Given the description of an element on the screen output the (x, y) to click on. 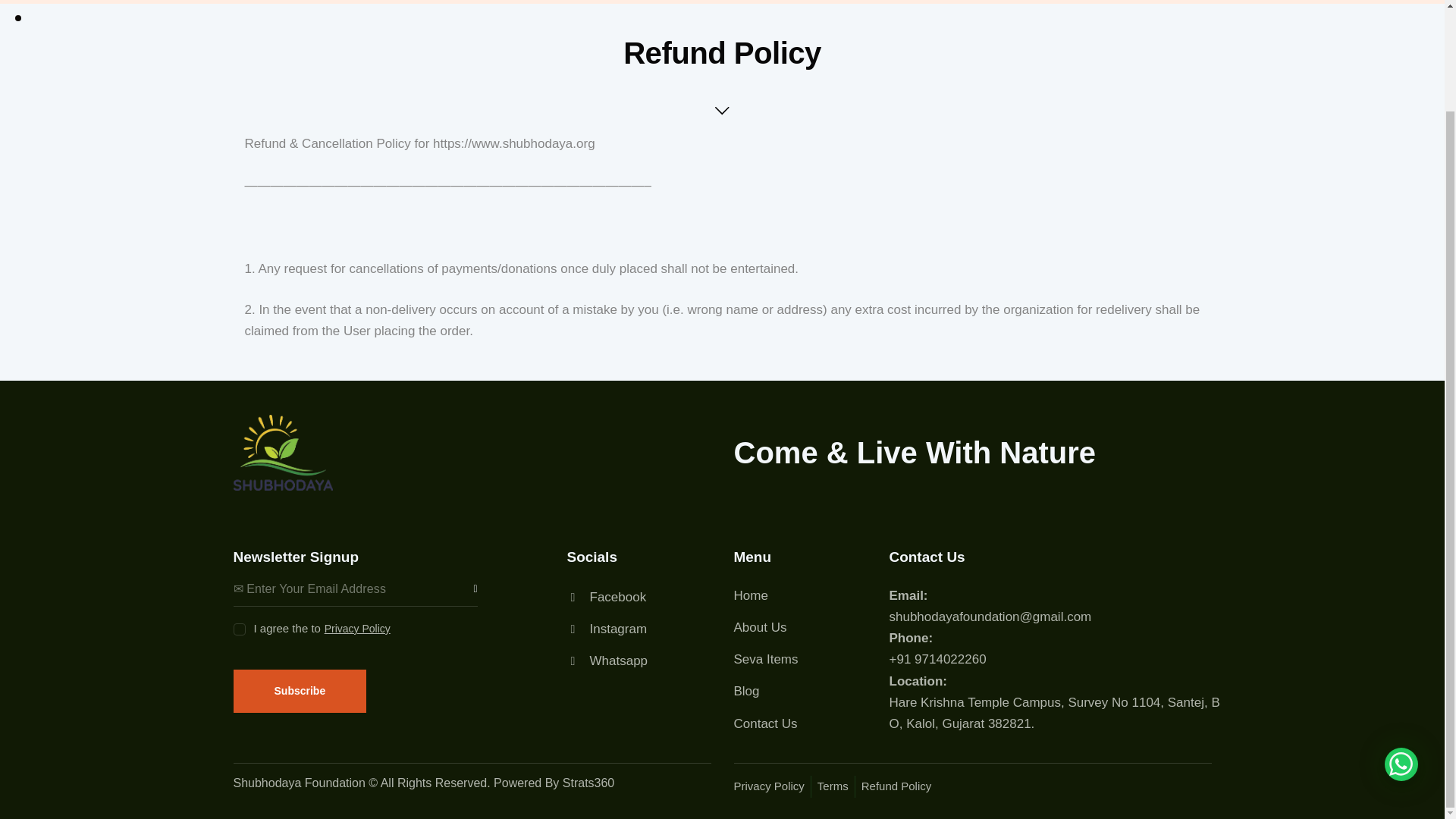
Subscribe (299, 690)
I agree the to (237, 623)
Subscribe (465, 588)
Privacy Policy (355, 627)
